Given the description of an element on the screen output the (x, y) to click on. 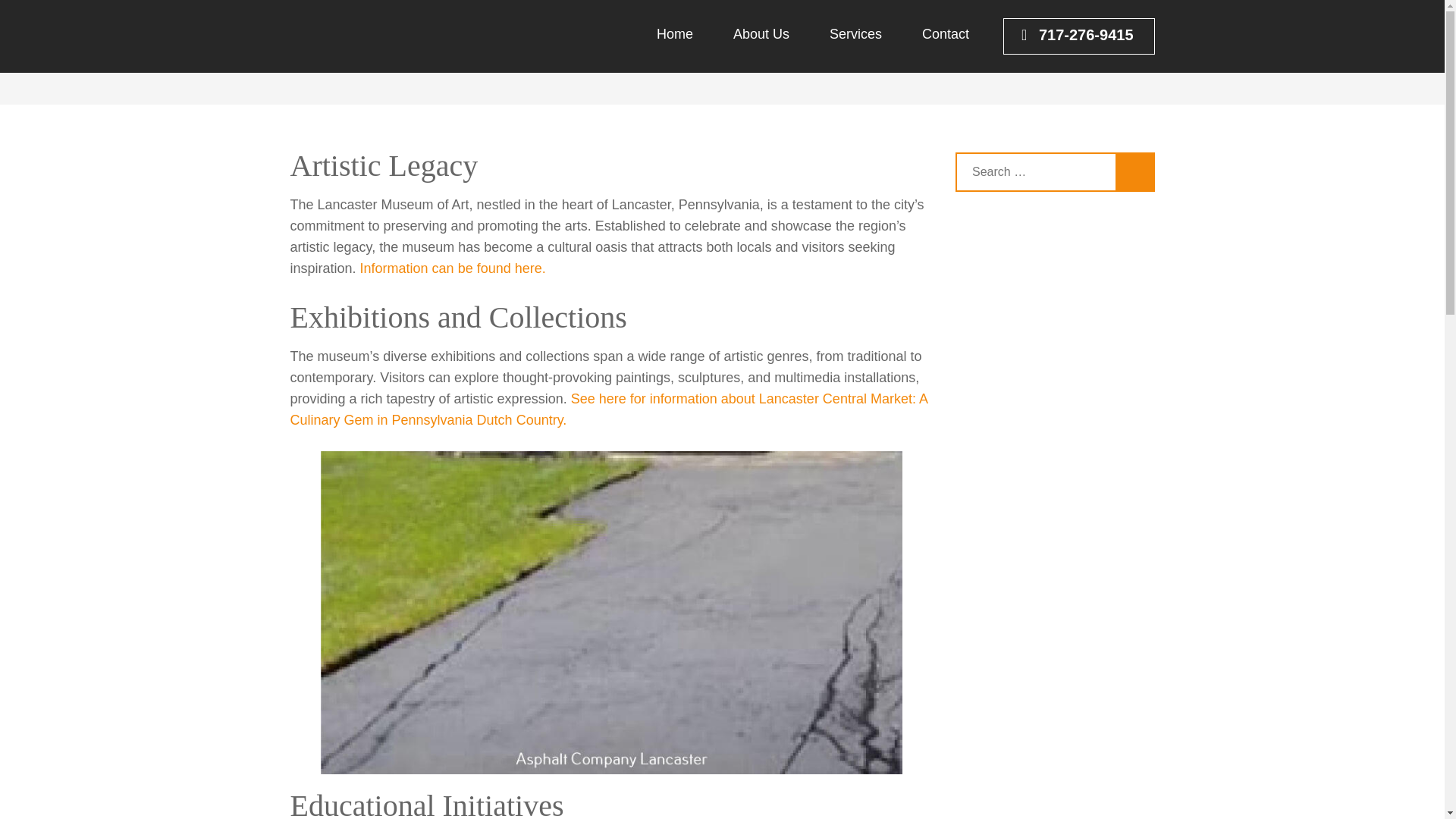
Search (1134, 171)
Services (855, 47)
Information can be found here. (452, 268)
717-276-9415 (1078, 36)
Search (1134, 171)
Contact (945, 47)
Home (870, 66)
Home (674, 47)
Search (1134, 171)
About Us (761, 47)
